Given the description of an element on the screen output the (x, y) to click on. 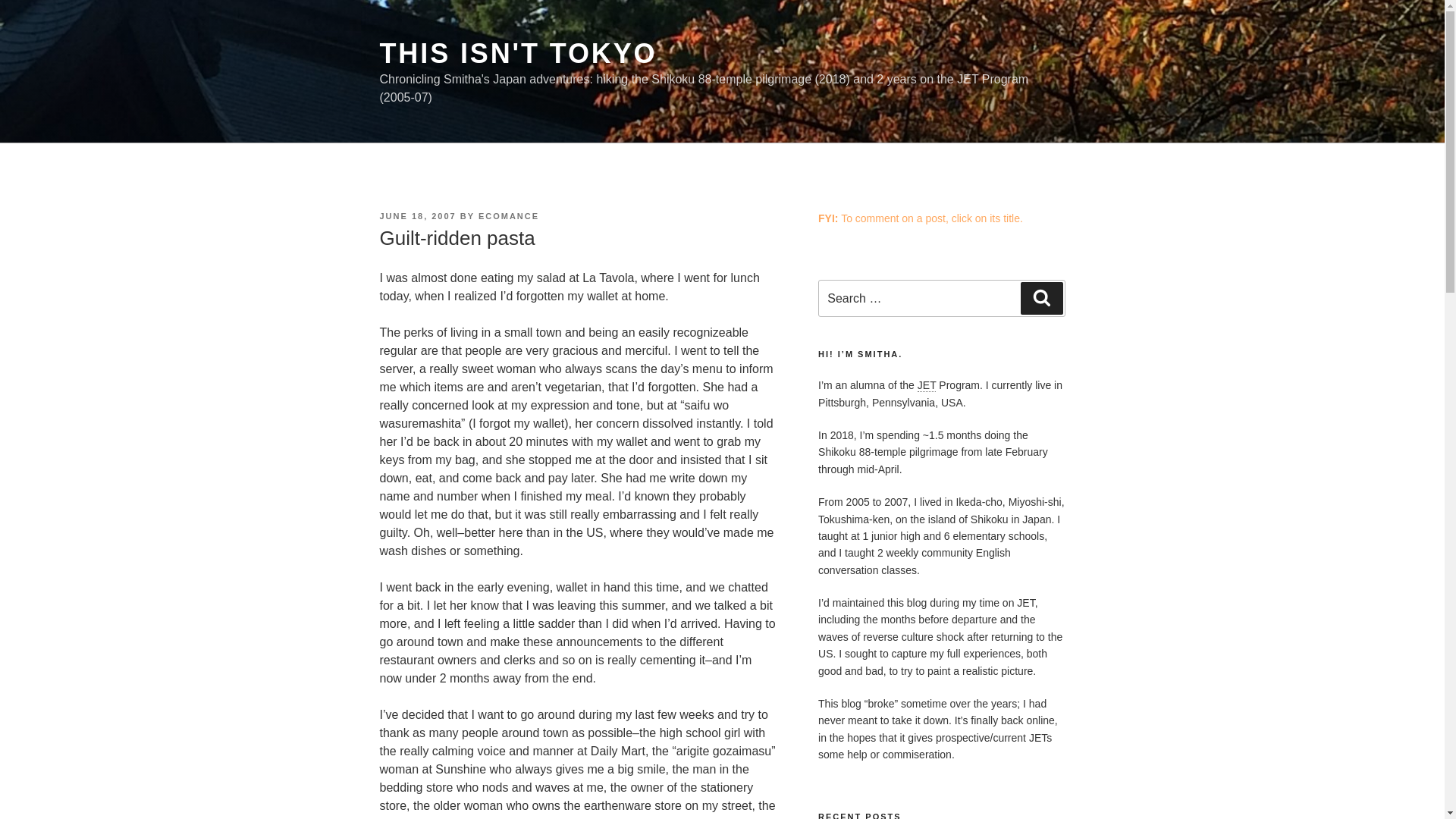
ECOMANCE (508, 215)
Japan Exchange and Teaching (926, 385)
Search (1041, 297)
JUNE 18, 2007 (416, 215)
THIS ISN'T TOKYO (517, 52)
